Given the description of an element on the screen output the (x, y) to click on. 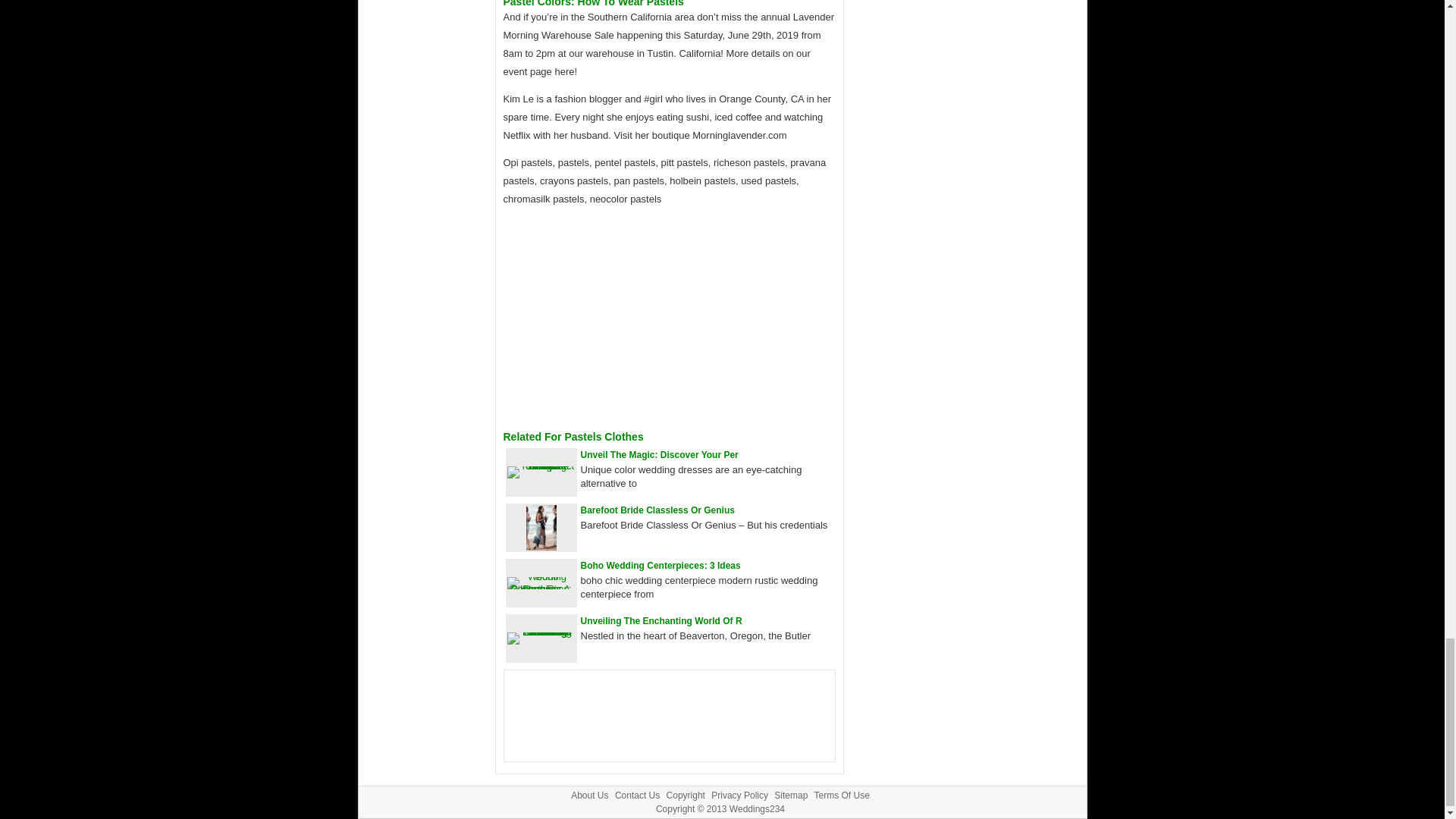
Boho Wedding Centerpieces: 3 Ideas For A Dreamy Aesthetic (540, 588)
Boho Wedding Centerpieces: 3 Ideas (660, 565)
Unveiling The Enchanting World Of R (661, 620)
Boho Wedding Centerpieces: 3 Ideas For A Dreamy Aesthetic (660, 565)
Barefoot Bride Classless Or Genius (657, 510)
Unveil The Magic: Discover Your Per (659, 454)
Barefoot Bride Classless Or Genius (540, 546)
Barefoot Bride Classless Or Genius (657, 510)
